Given the description of an element on the screen output the (x, y) to click on. 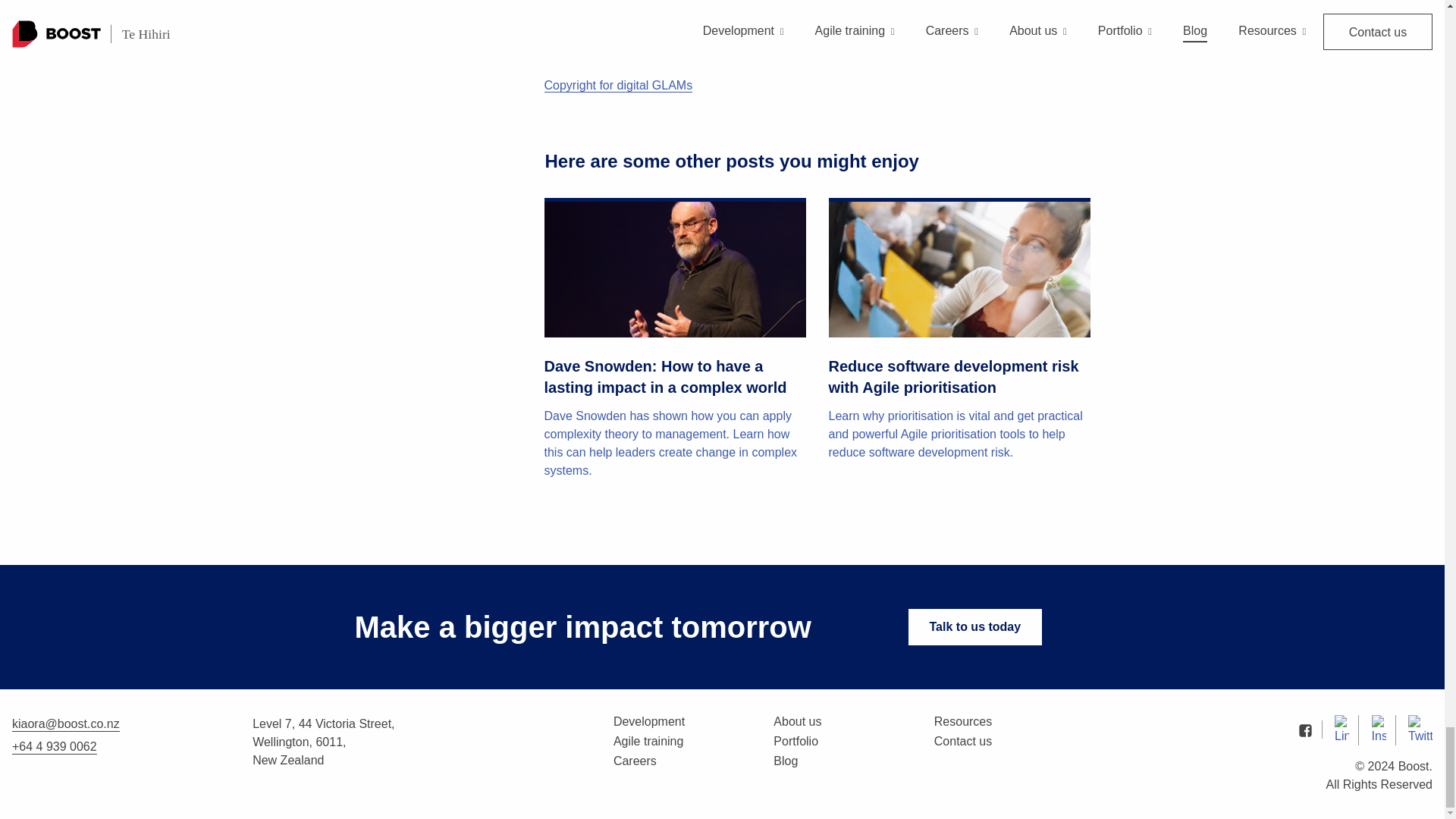
Accessible digital services for the cultural heritage sector (696, 24)
